Given the description of an element on the screen output the (x, y) to click on. 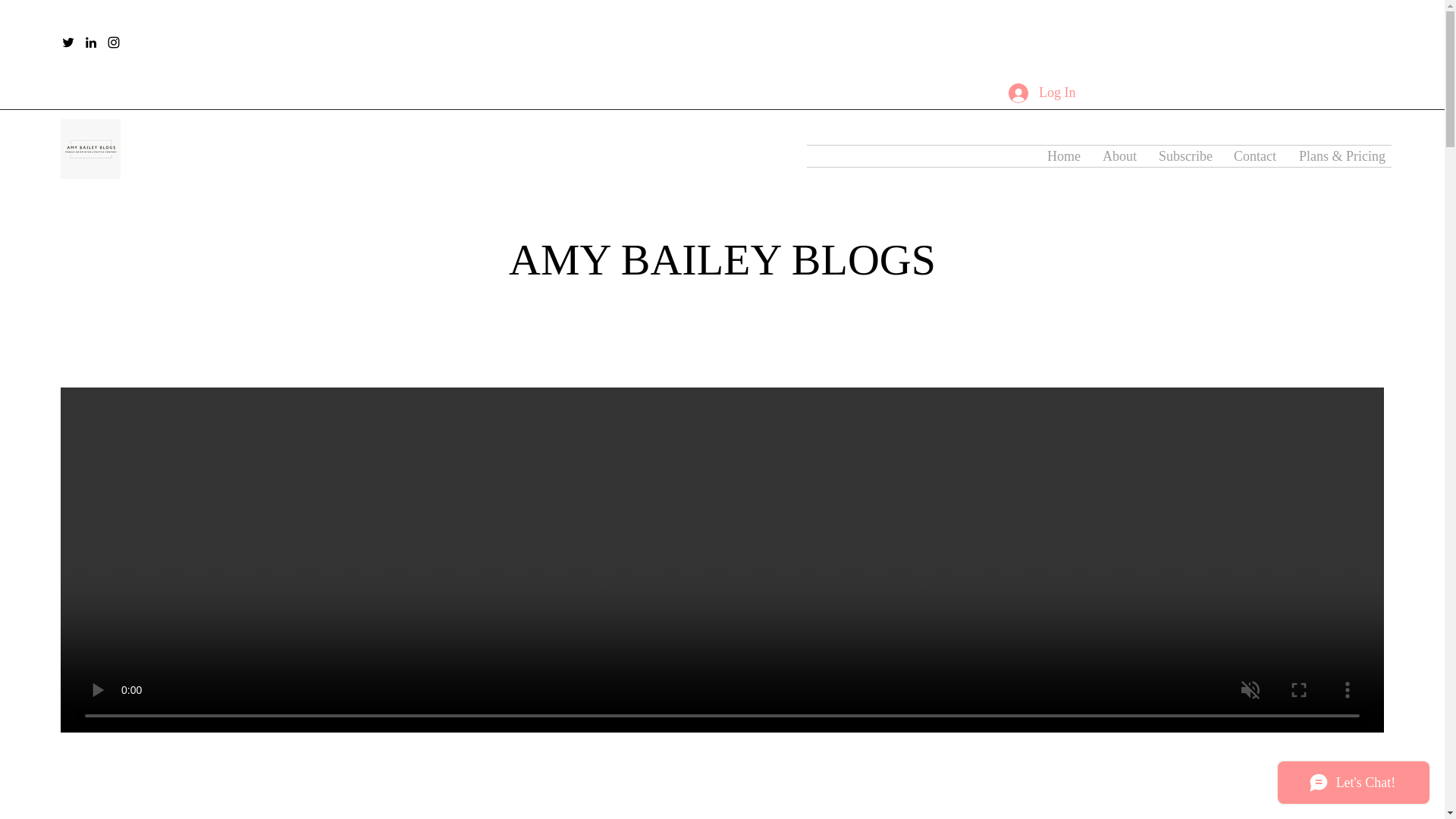
Log In (1041, 92)
Contact (1255, 156)
Home (1062, 156)
About (1118, 156)
Subscribe (1185, 156)
